Given the description of an element on the screen output the (x, y) to click on. 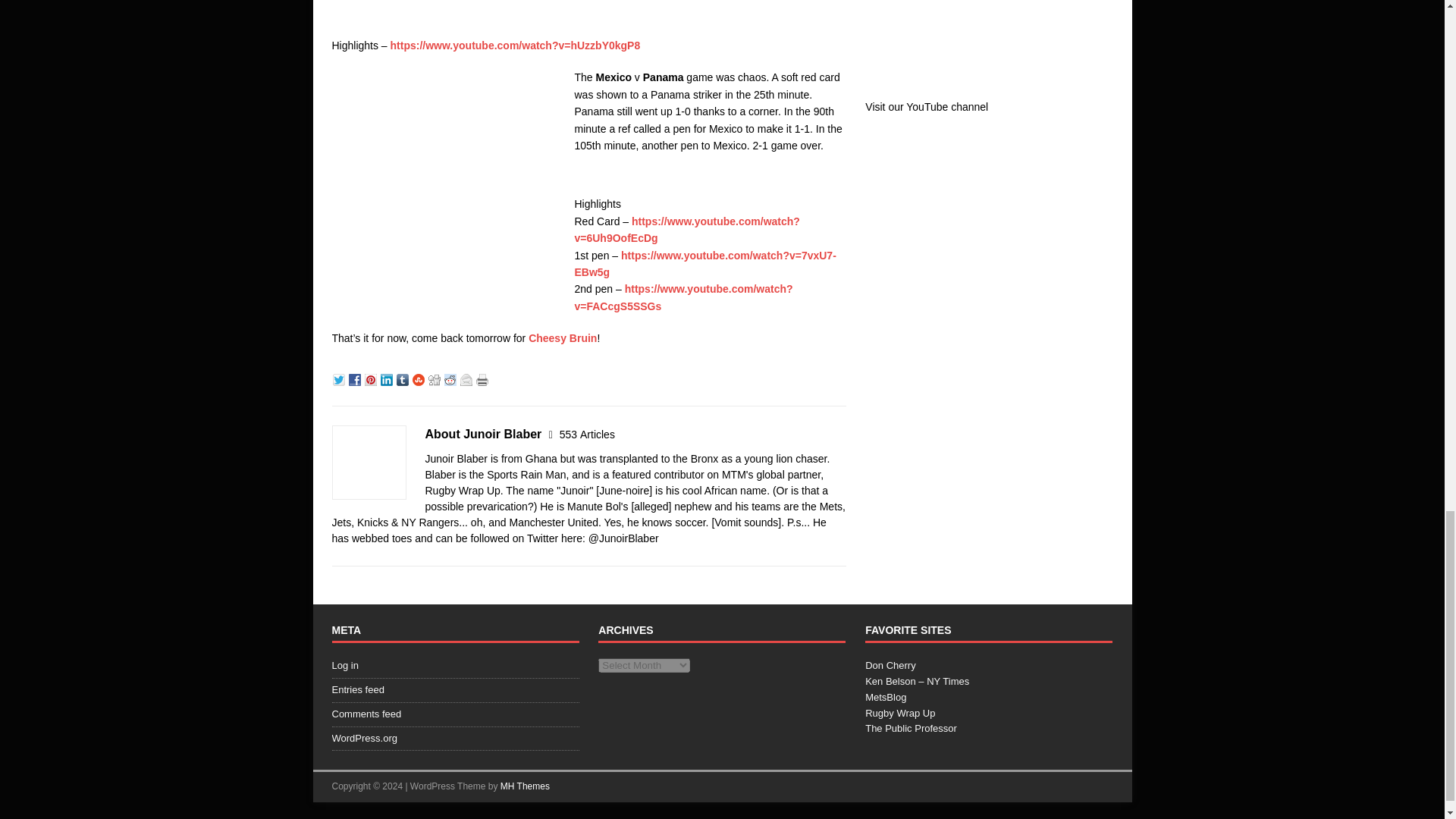
Print (484, 377)
Linkedin (388, 377)
Digg (436, 377)
553 Articles (586, 434)
Cheesy Bruin (562, 337)
Reddit (452, 377)
Tumblr (404, 377)
Email (468, 377)
Twitter (339, 377)
More articles written by Junoir Blaber' (586, 434)
Pinterest (372, 377)
Facebook (357, 377)
StumbleUpon (420, 377)
